Given the description of an element on the screen output the (x, y) to click on. 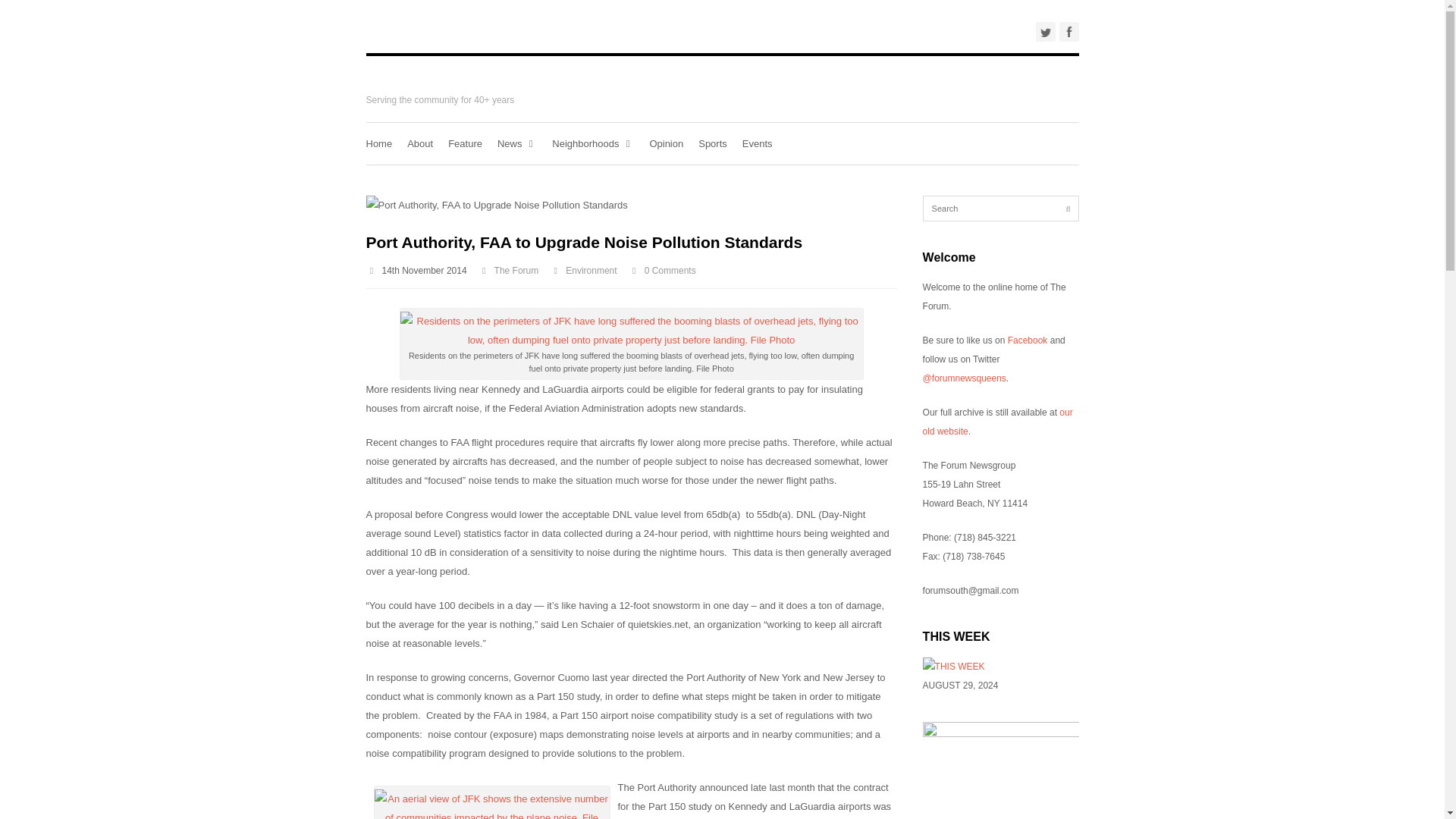
Posts by The Forum (516, 270)
Environment (590, 270)
THIS WEEK (954, 665)
0 Comments (670, 270)
Neighborhoods (592, 143)
twitter (1045, 31)
News (517, 143)
The Forum (516, 270)
facebook (1068, 31)
